Given the description of an element on the screen output the (x, y) to click on. 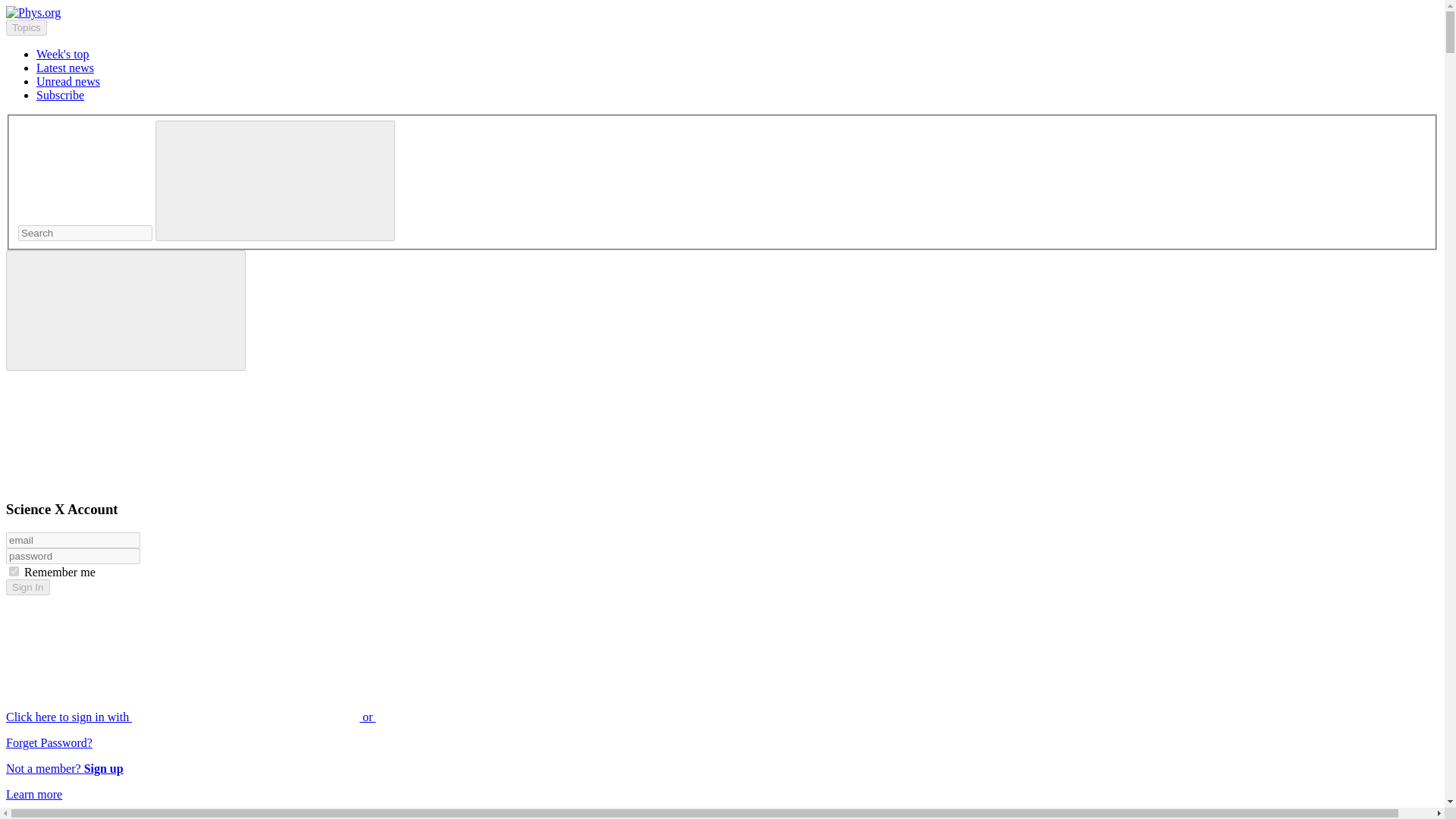
Not a member? Sign up (64, 768)
Nanotechnology (76, 816)
on (13, 571)
Click here to sign in with or (304, 716)
Learn more (33, 793)
Topics (25, 27)
Subscribe (60, 94)
Sign In (27, 587)
Week's top (62, 53)
Unread news (68, 81)
